Given the description of an element on the screen output the (x, y) to click on. 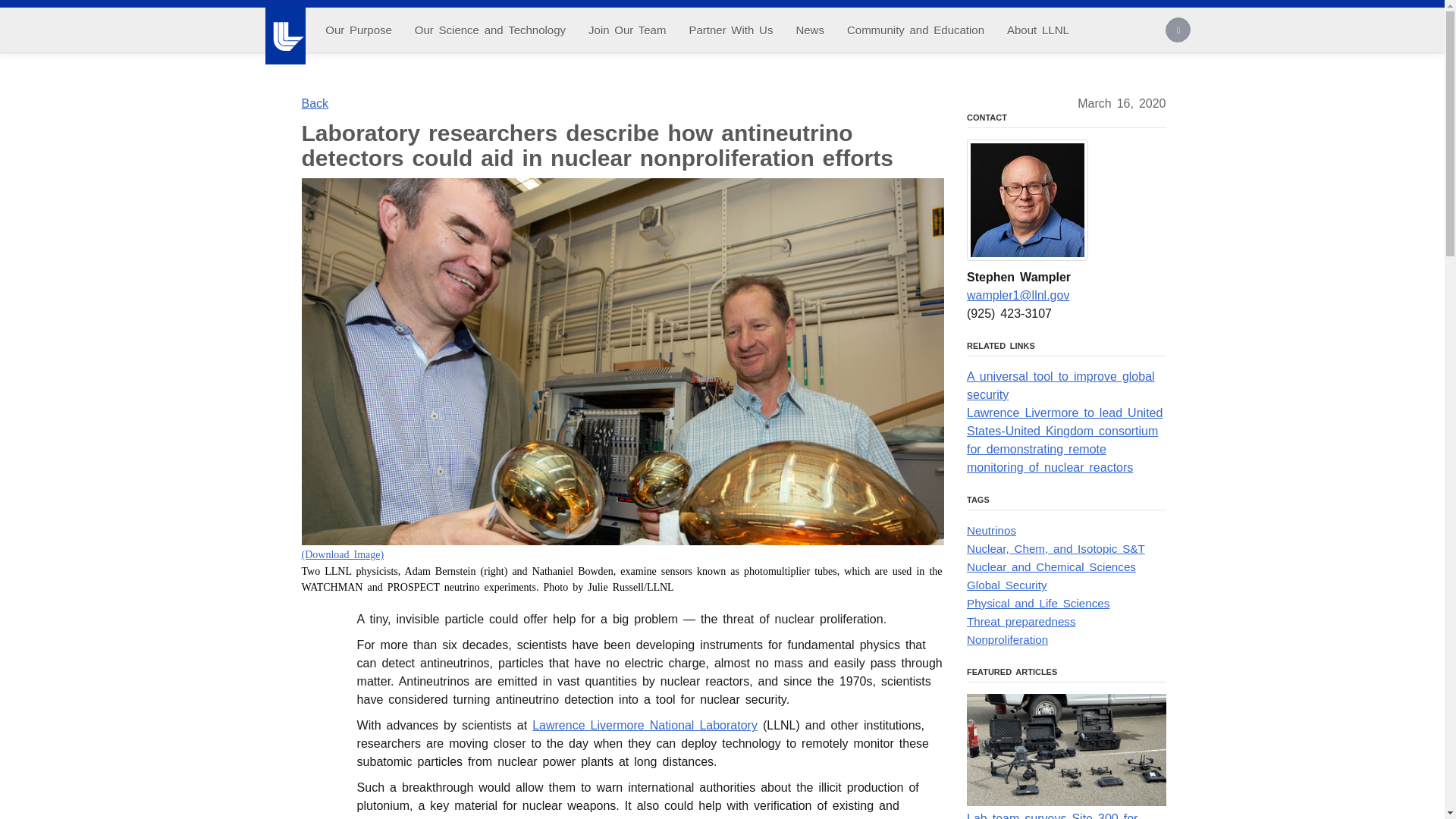
Share to Facebook (317, 641)
Search (1179, 31)
Share to X (317, 671)
Share to Linkedin (317, 700)
Share to Email (317, 730)
